Given the description of an element on the screen output the (x, y) to click on. 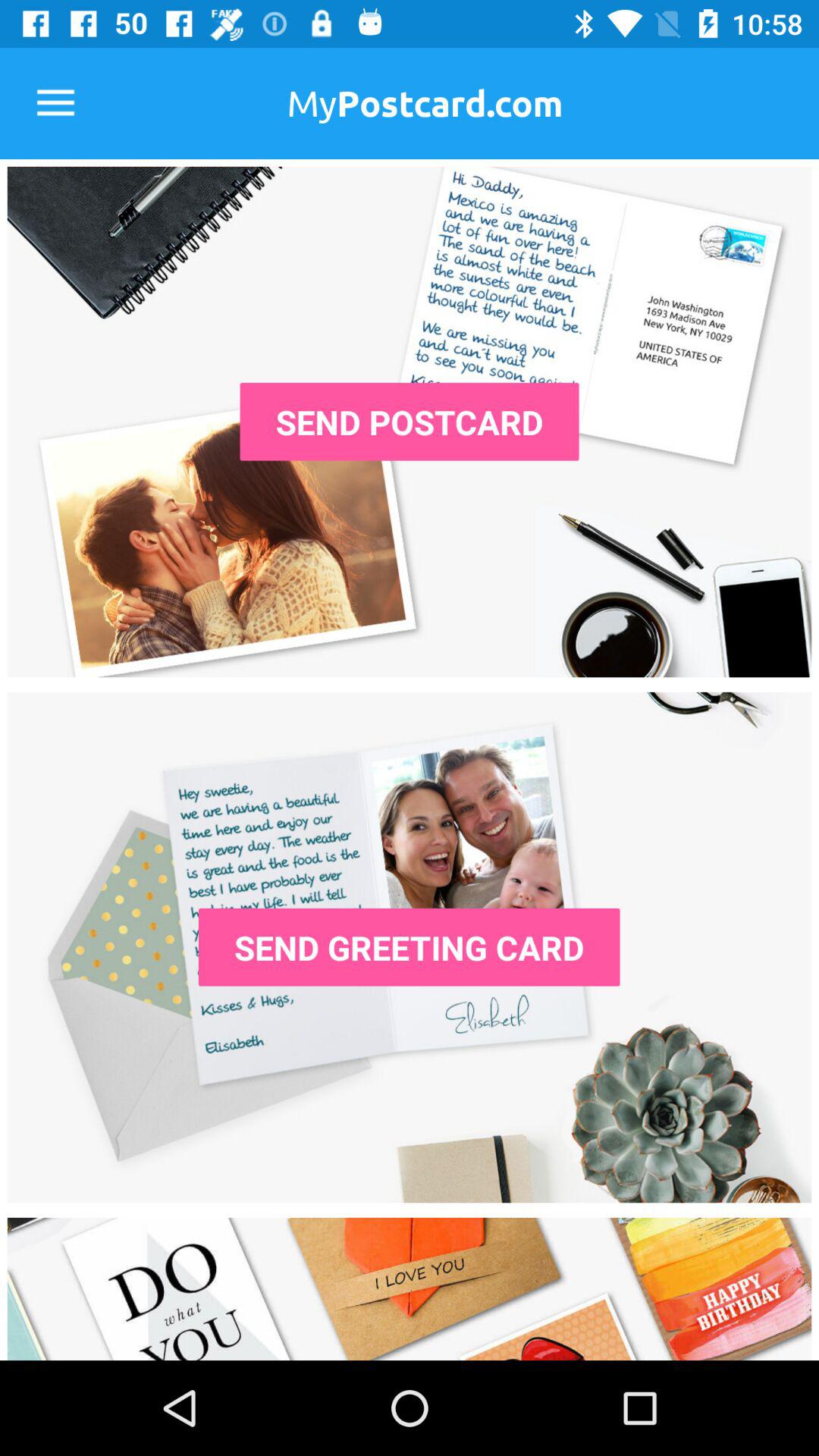
press the send greeting card item (408, 947)
